Given the description of an element on the screen output the (x, y) to click on. 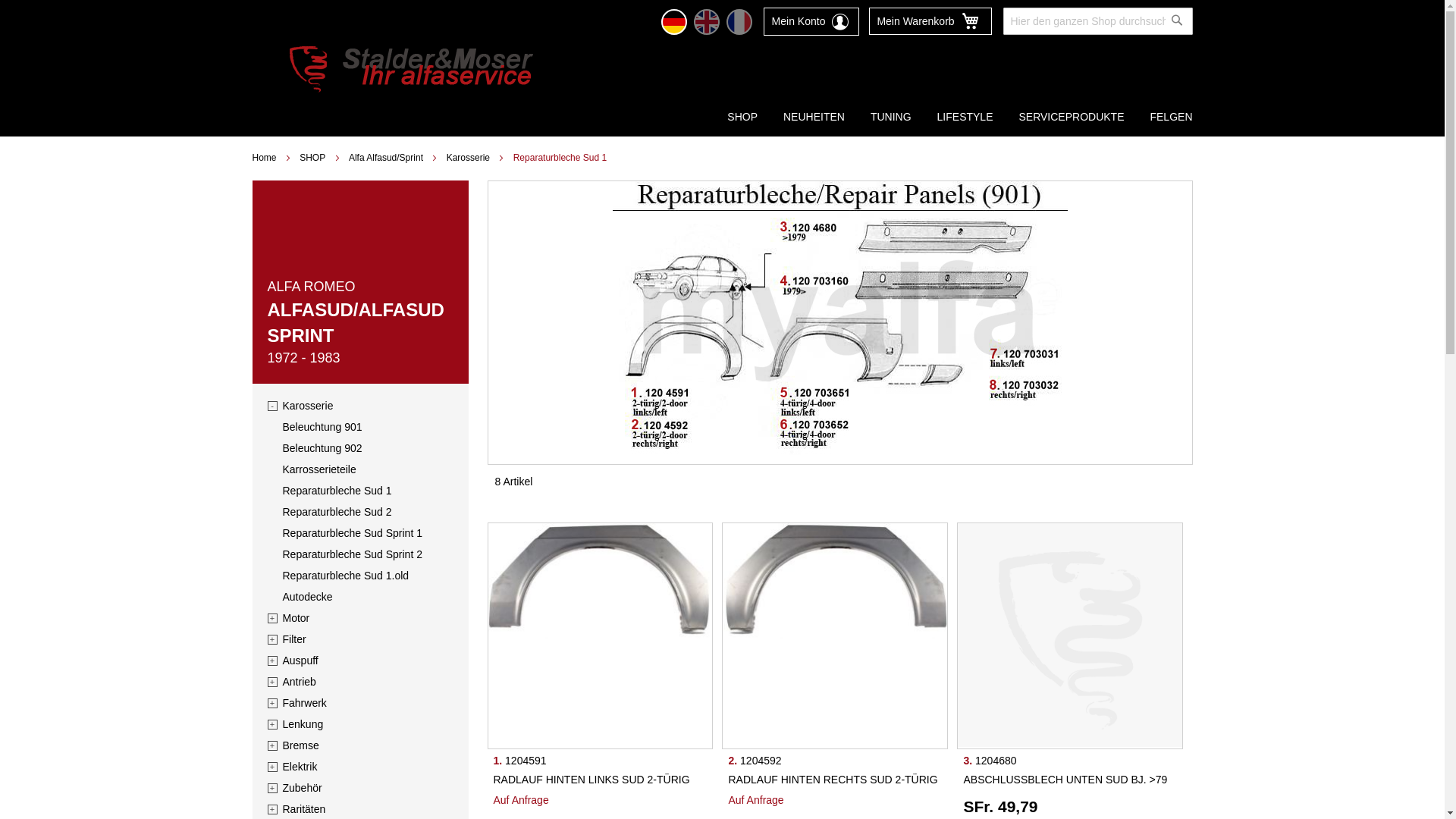
Alfa Alfasud/Sprint Element type: text (385, 157)
FELGEN Element type: text (1170, 116)
Lenkung Element type: text (302, 724)
LIFESTYLE Element type: text (965, 116)
Reparaturbleche Sud 2 Element type: text (336, 512)
Reparaturbleche Sud Sprint 2 Element type: text (351, 554)
Filter Element type: text (293, 639)
ABSCHLUSSBLECH UNTEN SUD BJ. >79 Element type: text (1065, 779)
Autodecke Element type: text (307, 597)
Garage Stalder & Moser GmbH Element type: hover (410, 68)
TUNING Element type: text (890, 116)
Karrosserieteile Element type: text (318, 469)
Reparaturbleche Sud Sprint 1 Element type: text (351, 533)
Fahrwerk Element type: text (304, 703)
Auf Anfrage Element type: text (520, 799)
NEUHEITEN Element type: text (813, 116)
Bremse Element type: text (300, 745)
Elektrik Element type: text (299, 767)
Home Element type: text (263, 157)
Karosserie Element type: text (307, 406)
Reparaturbleche Sud 1 Element type: text (336, 490)
Antrieb Element type: text (298, 682)
Karosserie Element type: text (467, 157)
Auspuff Element type: text (299, 660)
Mein Konto Element type: text (811, 21)
Suche Element type: text (1175, 19)
SHOP Element type: text (312, 157)
Beleuchtung 901 Element type: text (321, 427)
SERVICEPRODUKTE Element type: text (1070, 116)
Mein Warenkorb Element type: text (930, 20)
Motor Element type: text (295, 618)
Reparaturbleche Sud 1 Element type: hover (839, 320)
Reparaturbleche Sud 1.old Element type: text (345, 575)
Auf Anfrage Element type: text (755, 799)
SHOP Element type: text (742, 116)
Beleuchtung 902 Element type: text (321, 448)
